Given the description of an element on the screen output the (x, y) to click on. 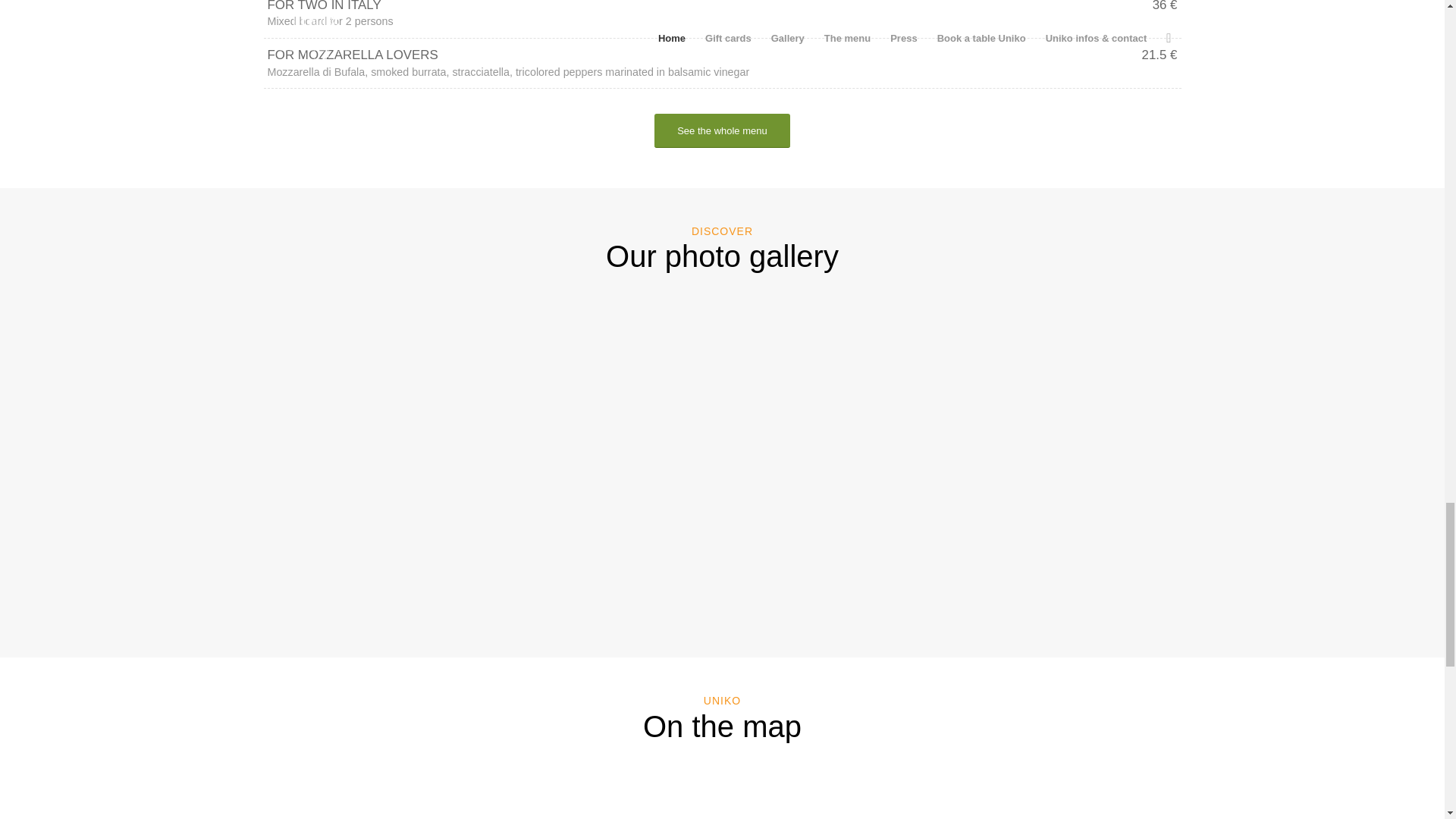
See the whole menu (721, 130)
